Given the description of an element on the screen output the (x, y) to click on. 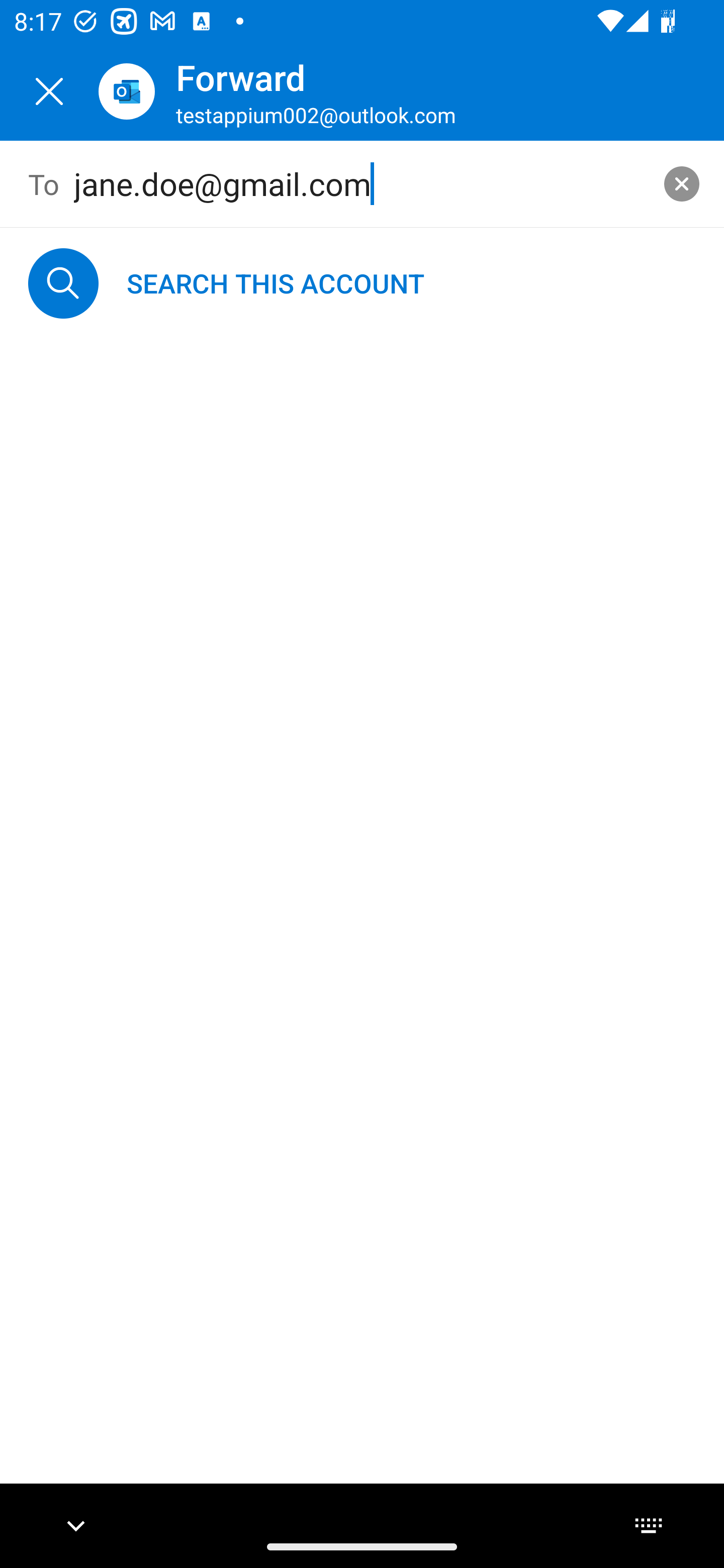
Close (49, 91)
jane.doe@gmail.com (362, 184)
clear search (681, 183)
